Given the description of an element on the screen output the (x, y) to click on. 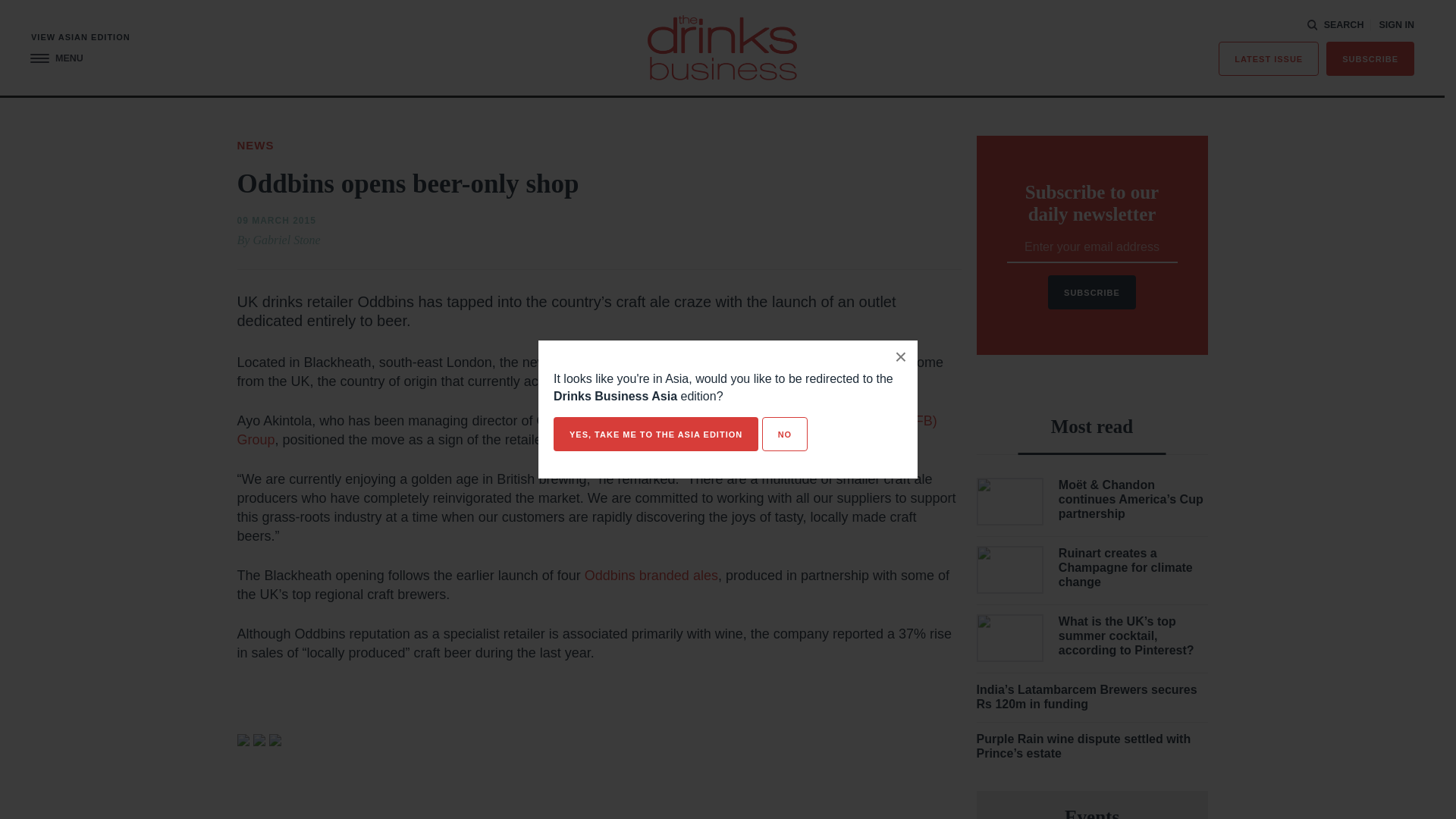
The Drinks Business (721, 47)
SIGN IN (1395, 25)
NO (784, 433)
LATEST ISSUE (1268, 58)
VIEW ASIAN EDITION (80, 37)
SUBSCRIBE (1369, 58)
YES, TAKE ME TO THE ASIA EDITION (655, 433)
